Given the description of an element on the screen output the (x, y) to click on. 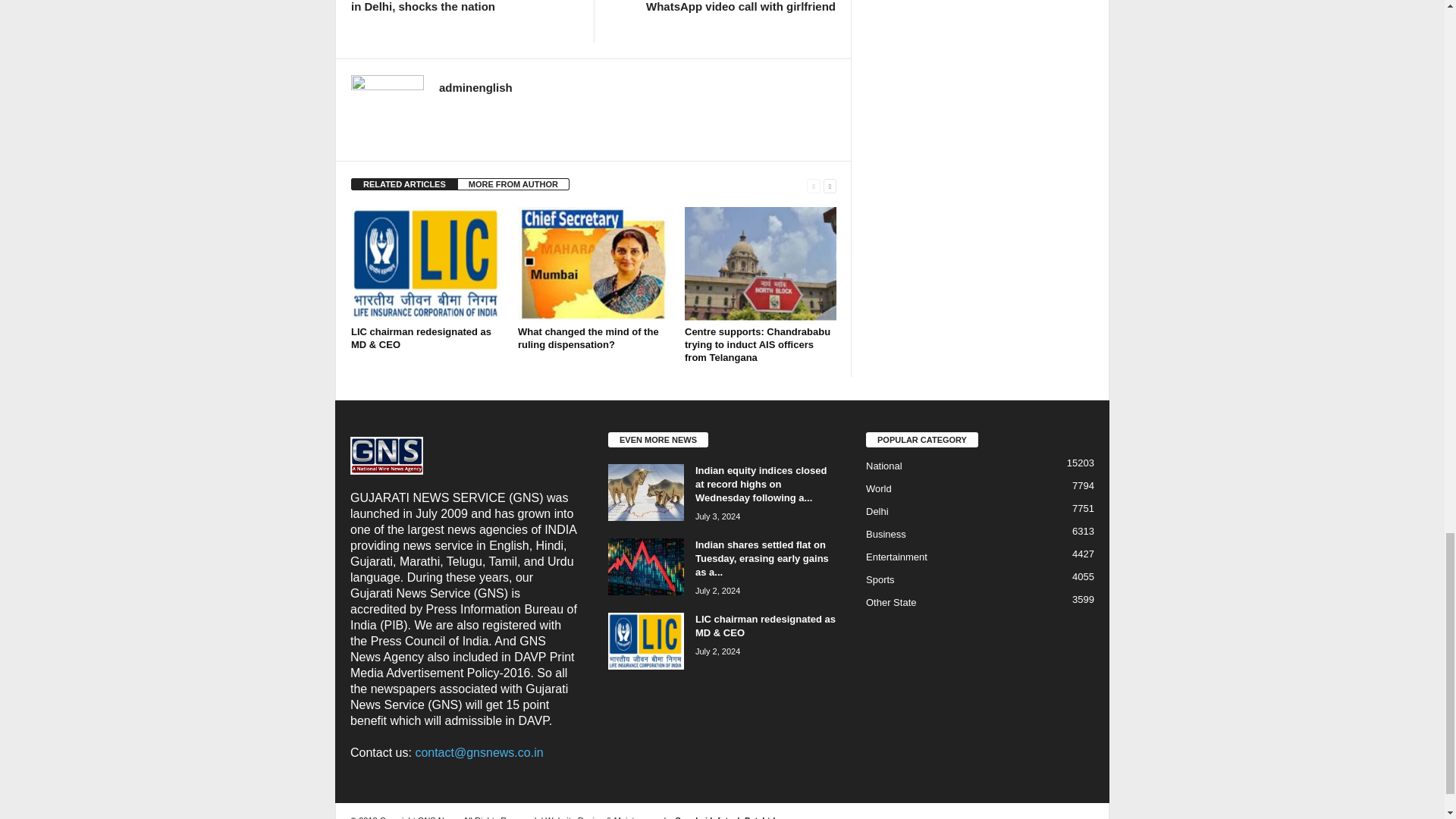
What changed the mind of the ruling dispensation? (588, 337)
What changed the mind of the ruling dispensation? (593, 264)
